Given the description of an element on the screen output the (x, y) to click on. 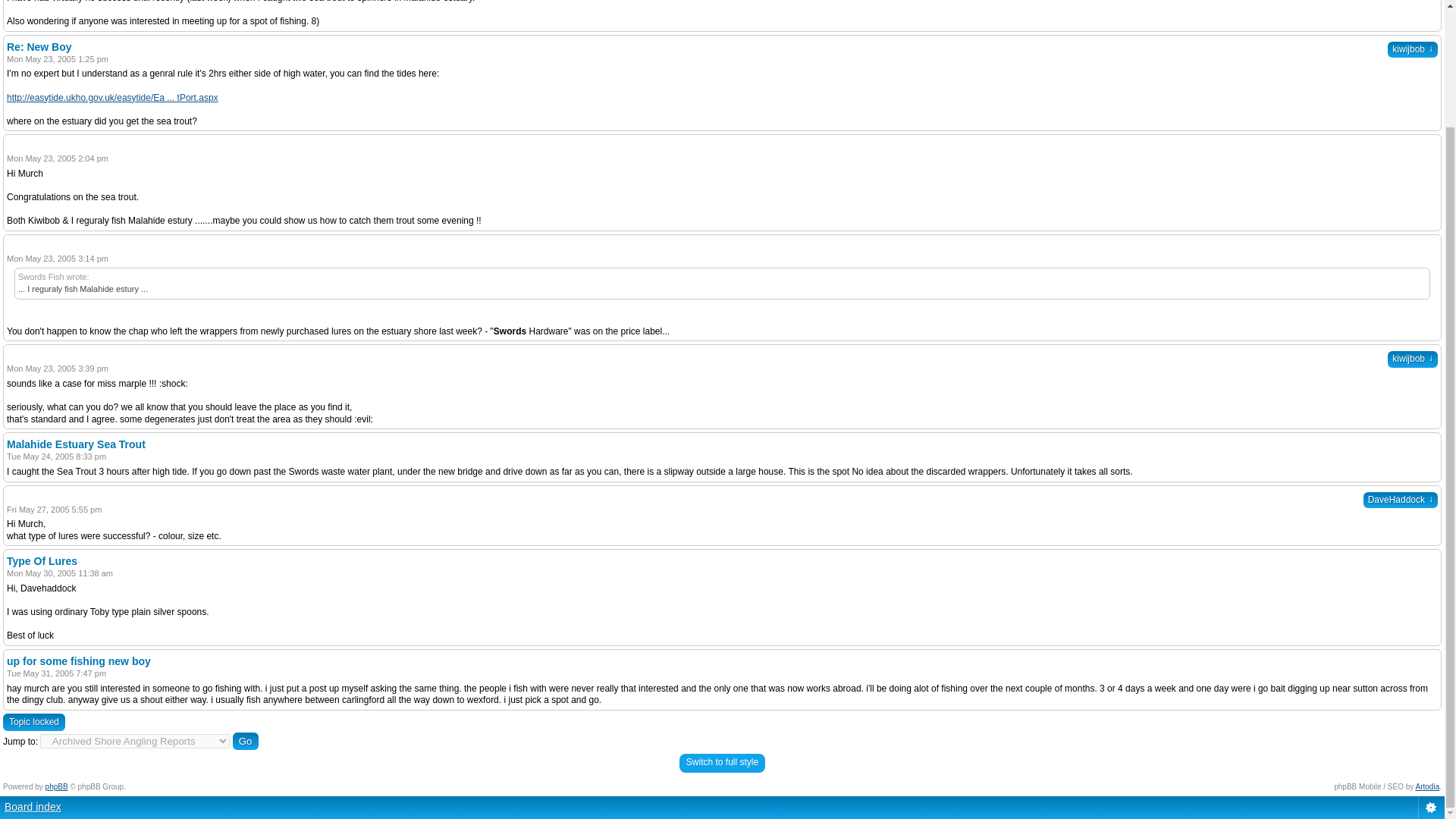
Switch to full style (722, 763)
Artodia (1427, 786)
phpBB (56, 786)
Go (245, 741)
Board index (32, 806)
Go (245, 741)
Topic locked (33, 722)
